Given the description of an element on the screen output the (x, y) to click on. 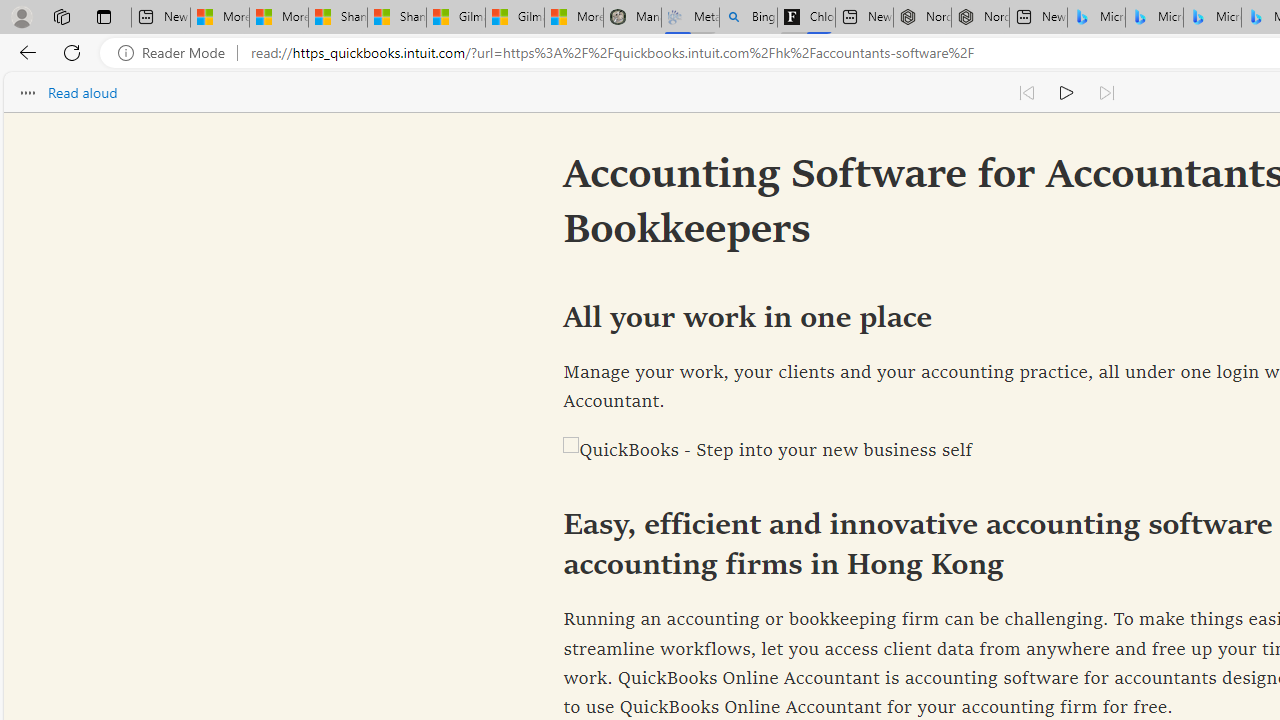
Read next paragraph (1105, 92)
Bing Real Estate - Home sales and rental listings (747, 17)
Continue to read aloud (Ctrl+Shift+U) (1065, 92)
